Given the description of an element on the screen output the (x, y) to click on. 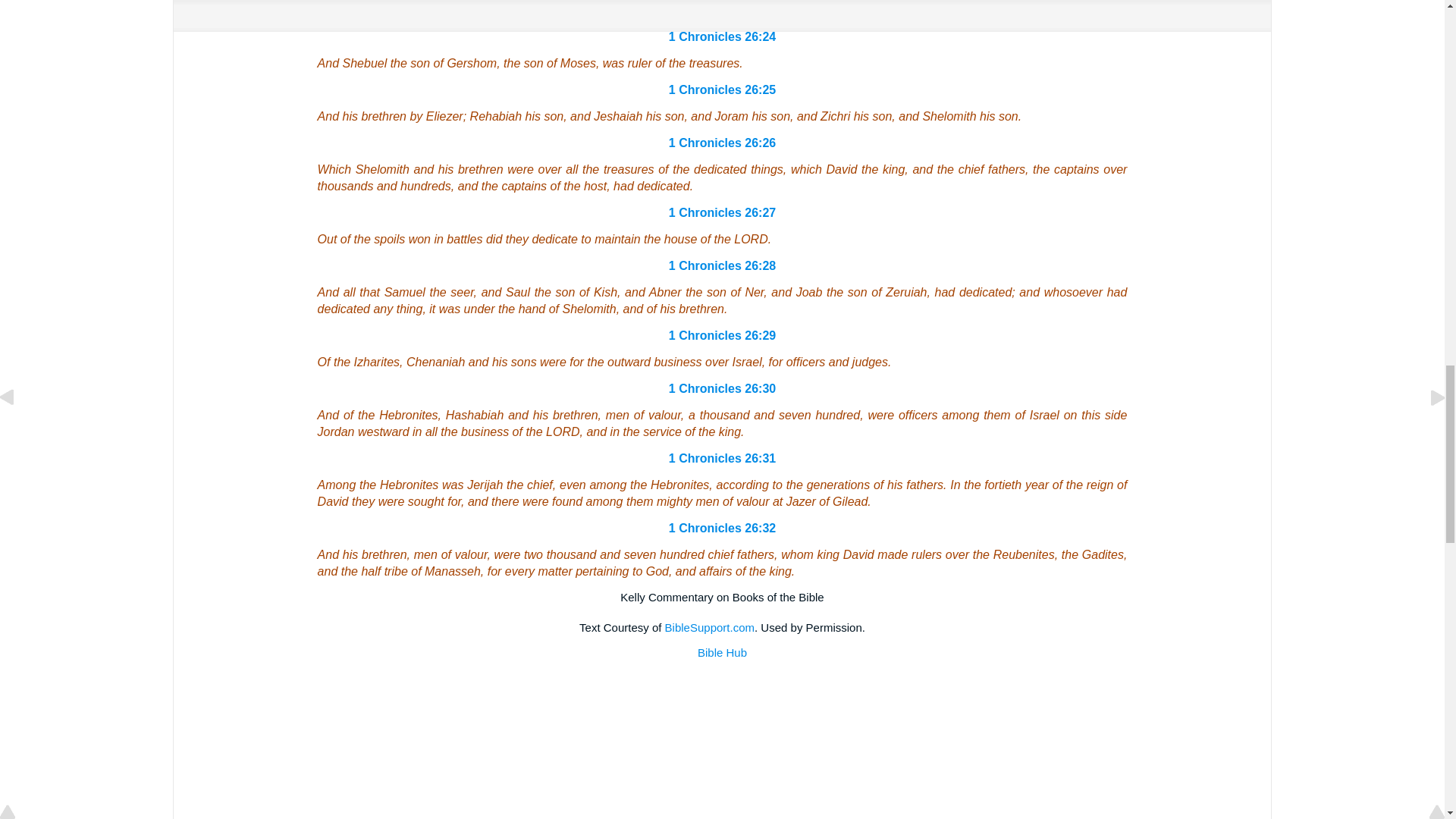
BibleSupport.com (709, 626)
1 Chronicles 26:28 (722, 265)
1 Chronicles 26:30 (722, 388)
1 Chronicles 26:26 (722, 142)
1 Chronicles 26:27 (722, 212)
1 Chronicles 26:29 (722, 335)
1 Chronicles 26:24 (722, 36)
1 Chronicles 26:25 (722, 89)
Bible Hub (721, 652)
1 Chronicles 26:31 (722, 458)
